Given the description of an element on the screen output the (x, y) to click on. 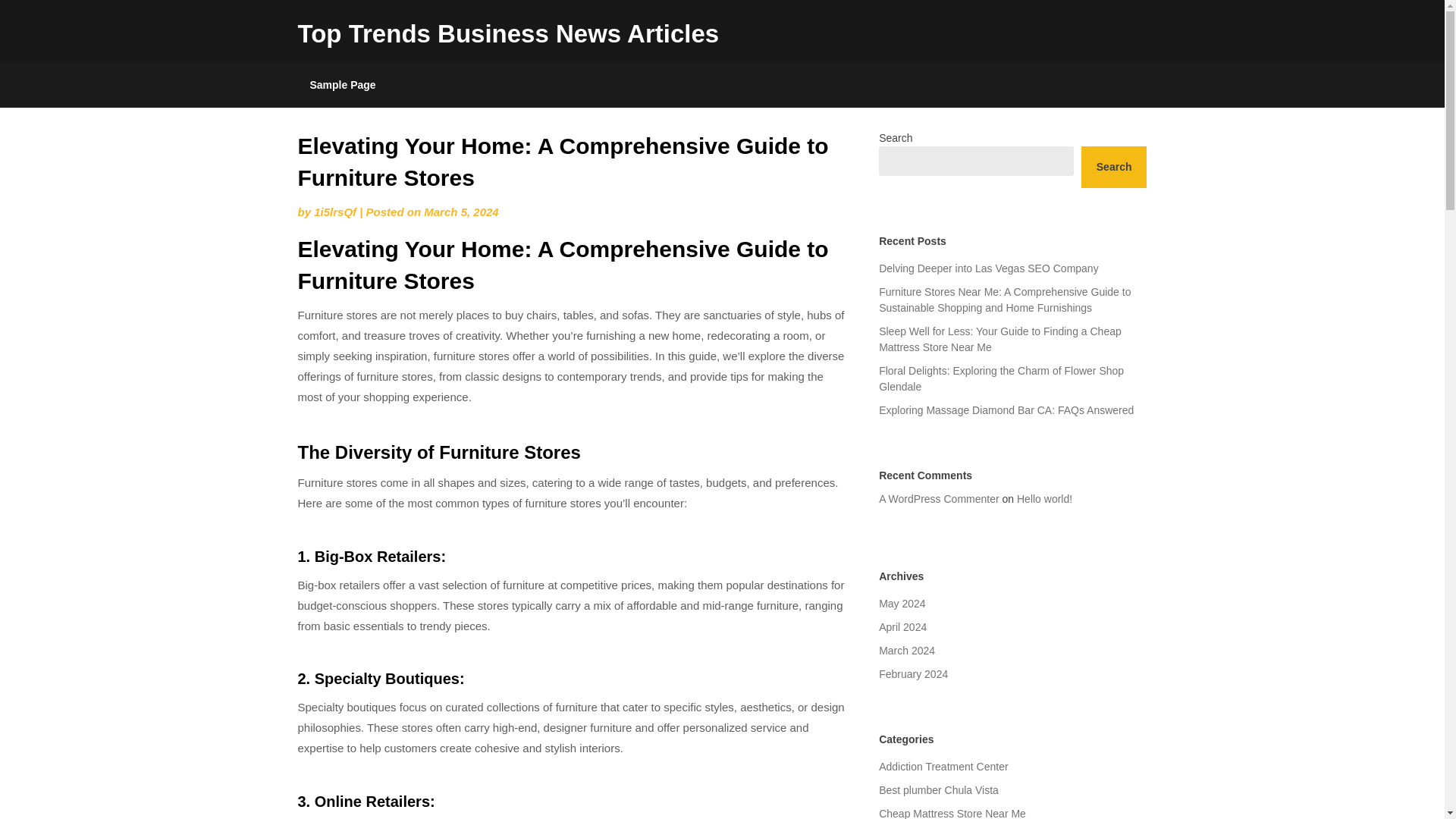
Cheap Mattress Store Near Me (952, 813)
May 2024 (901, 603)
March 2024 (906, 650)
Best plumber Chula Vista (938, 789)
February 2024 (913, 674)
Floral Delights: Exploring the Charm of Flower Shop Glendale (1001, 378)
Addiction Treatment Center (943, 766)
Hello world! (1043, 499)
